Given the description of an element on the screen output the (x, y) to click on. 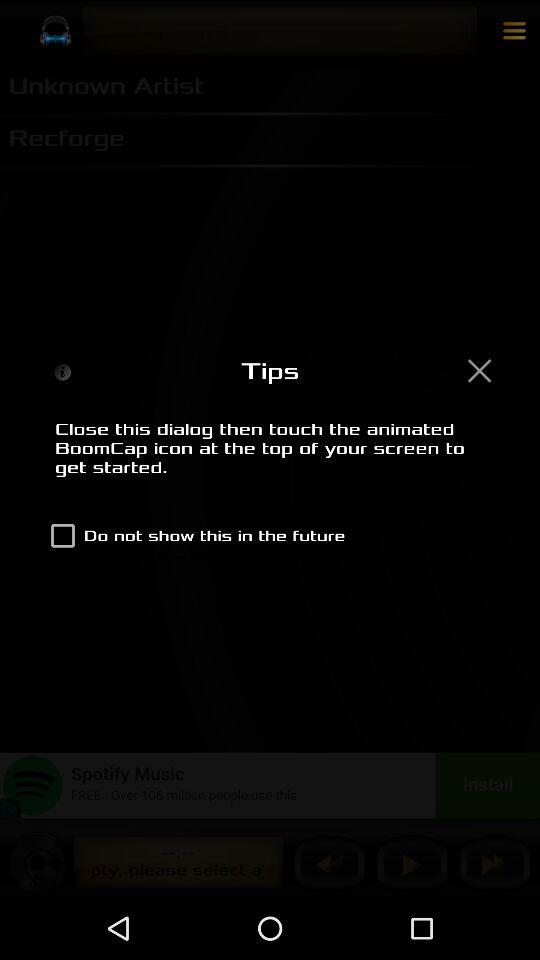
click do not show (193, 535)
